Given the description of an element on the screen output the (x, y) to click on. 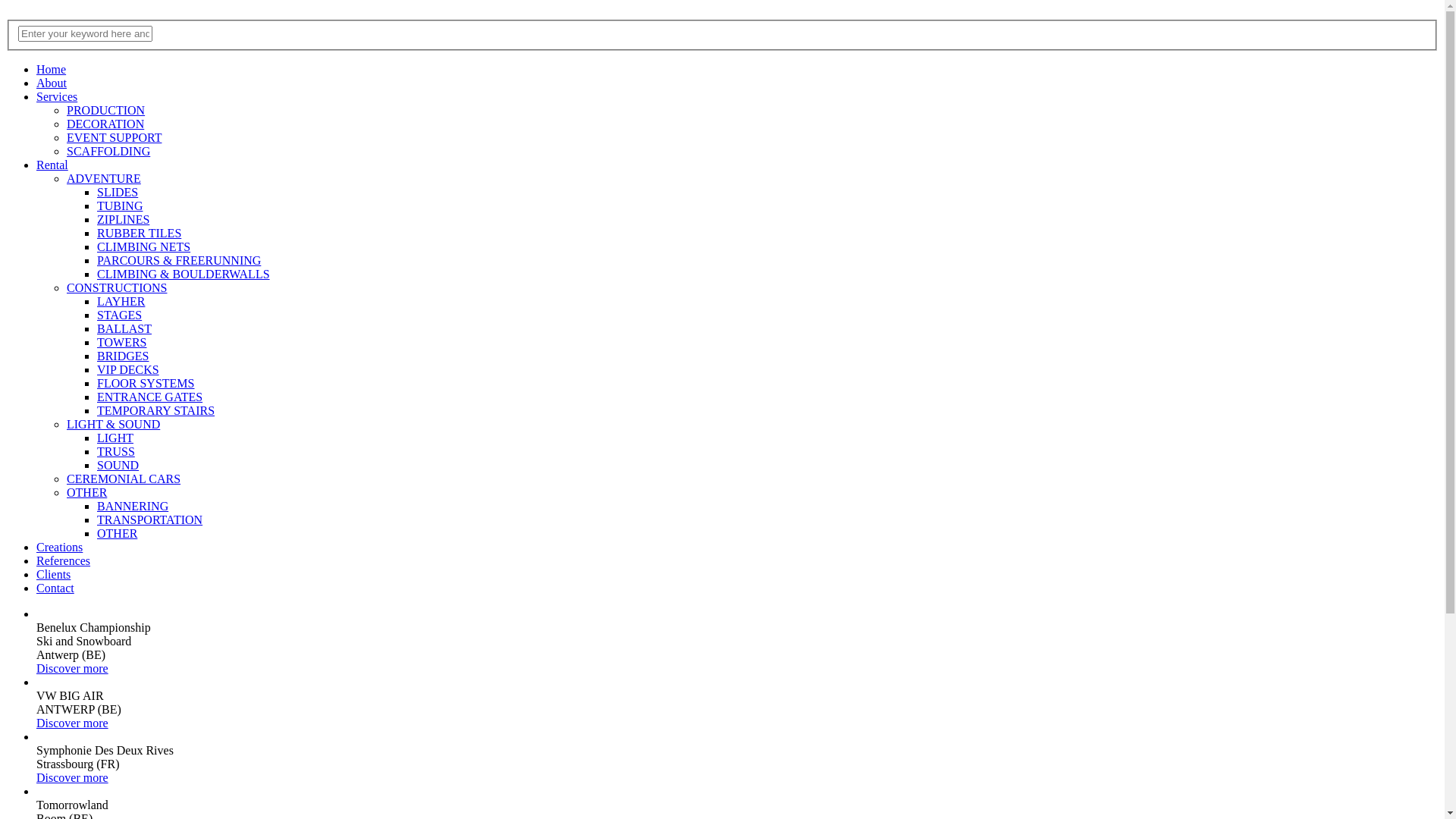
LIGHT Element type: text (115, 437)
About Element type: text (51, 82)
ADVENTURE Element type: text (103, 178)
TEMPORARY STAIRS Element type: text (155, 410)
DECORATION Element type: text (105, 123)
FLOOR SYSTEMS Element type: text (145, 382)
EVENT SUPPORT Element type: text (113, 137)
CONSTRUCTIONS Element type: text (116, 287)
LAYHER Element type: text (120, 300)
References Element type: text (63, 560)
ENTRANCE GATES Element type: text (149, 396)
SLIDES Element type: text (117, 191)
CEREMONIAL CARS Element type: text (123, 478)
BRIDGES Element type: text (122, 355)
TRANSPORTATION Element type: text (149, 519)
BALLAST Element type: text (124, 328)
Discover more Element type: text (72, 668)
Contact Element type: text (55, 587)
TUBING Element type: text (119, 205)
Clients Element type: text (53, 573)
OTHER Element type: text (117, 533)
PRODUCTION Element type: text (105, 109)
Home Element type: text (50, 68)
PARCOURS & FREERUNNING Element type: text (178, 260)
CLIMBING & BOULDERWALLS Element type: text (183, 273)
Creations Element type: text (59, 546)
BANNERING Element type: text (132, 505)
ZIPLINES Element type: text (123, 219)
RUBBER TILES Element type: text (139, 232)
CLIMBING NETS Element type: text (143, 246)
TOWERS Element type: text (121, 341)
TRUSS Element type: text (115, 451)
LIGHT & SOUND Element type: text (113, 423)
Discover more Element type: text (72, 722)
OTHER Element type: text (86, 492)
Rental Element type: text (52, 164)
VIP DECKS Element type: text (128, 369)
SOUND Element type: text (117, 464)
Services Element type: text (56, 96)
SCAFFOLDING Element type: text (108, 150)
STAGES Element type: text (119, 314)
